Given the description of an element on the screen output the (x, y) to click on. 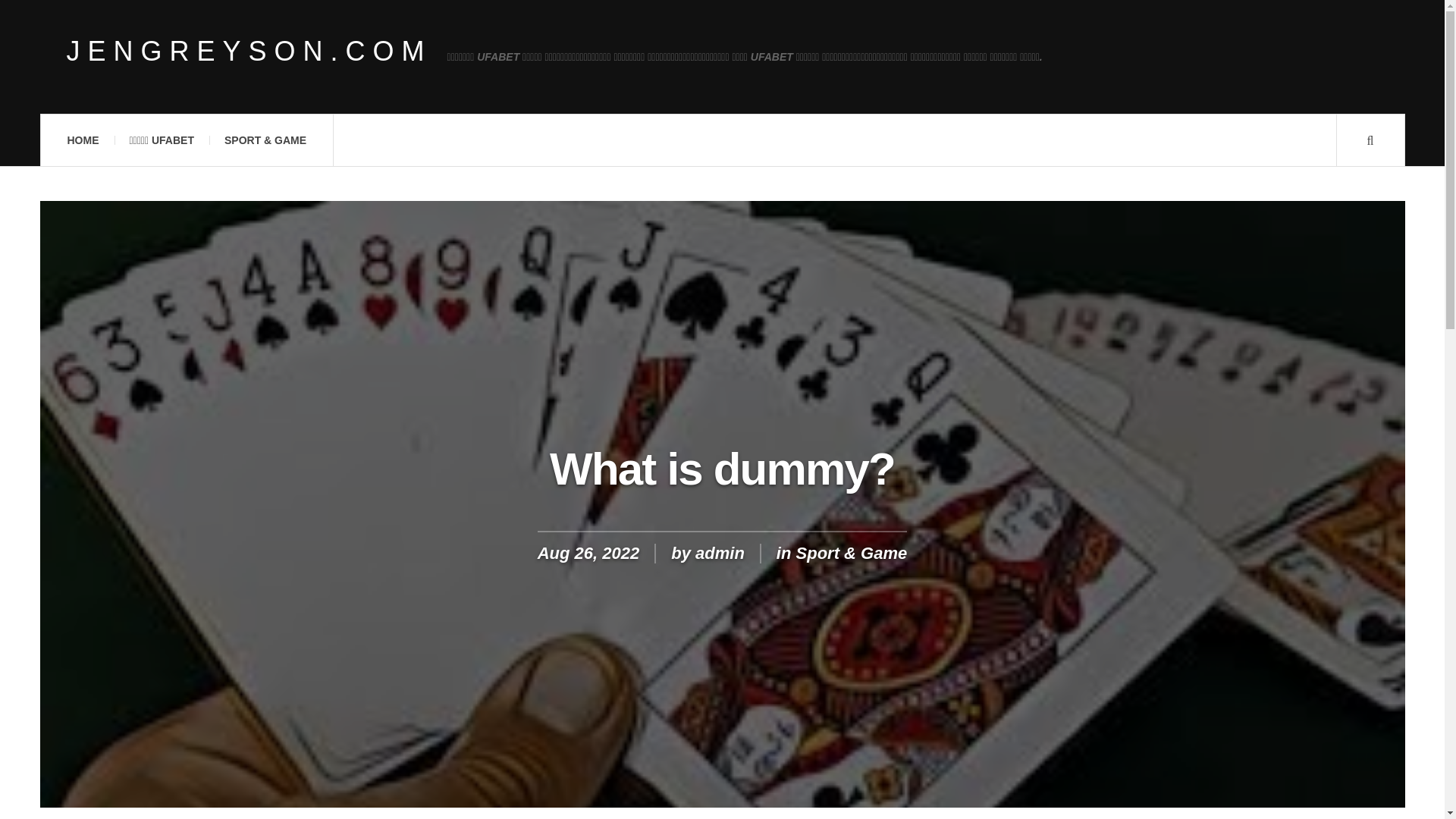
jengreyson.com (249, 51)
admin (719, 552)
HOME (81, 140)
JENGREYSON.COM (249, 51)
